Given the description of an element on the screen output the (x, y) to click on. 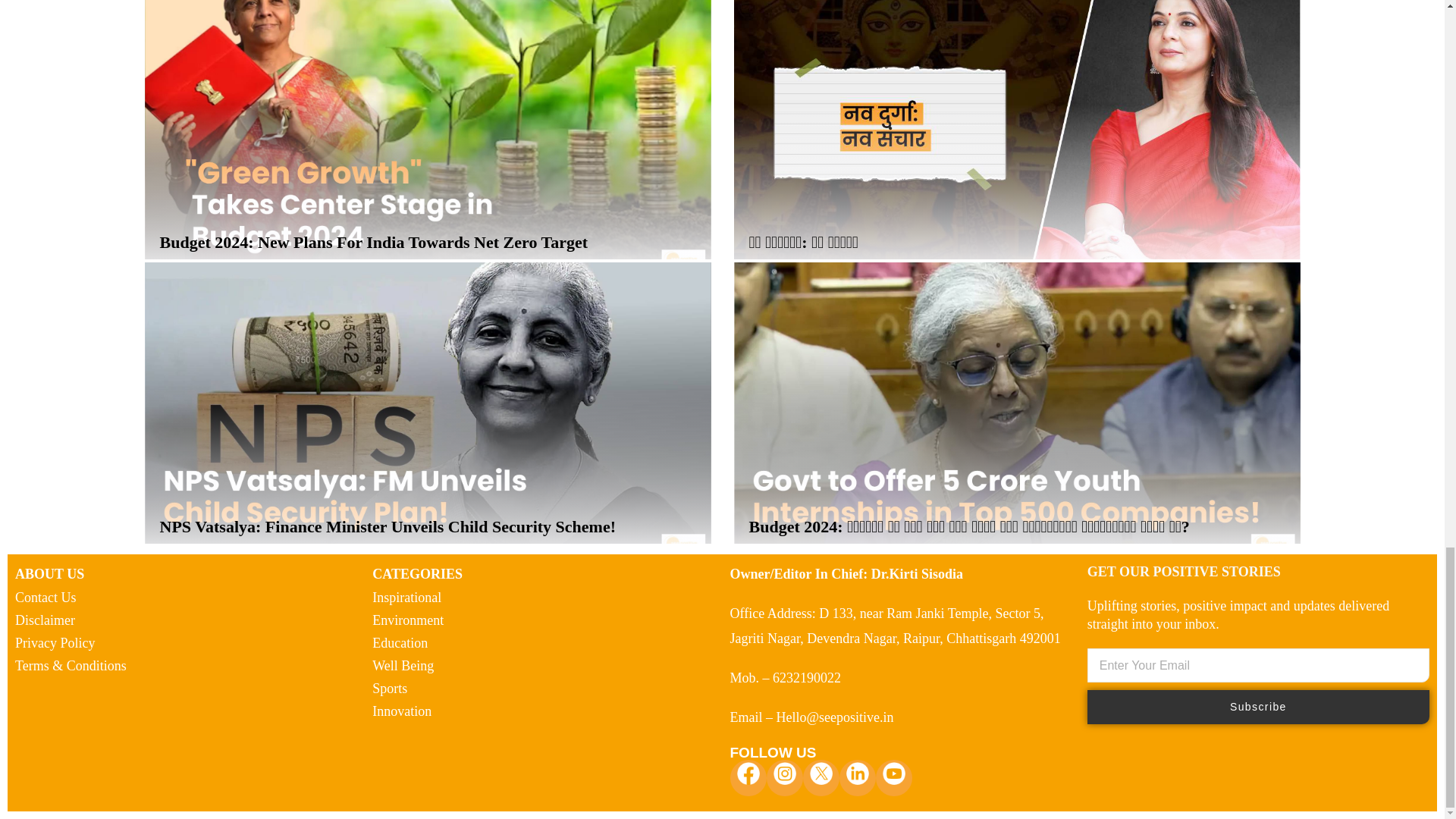
Page 1 (543, 573)
Page 1 (1254, 615)
Page 1 (185, 573)
